Given the description of an element on the screen output the (x, y) to click on. 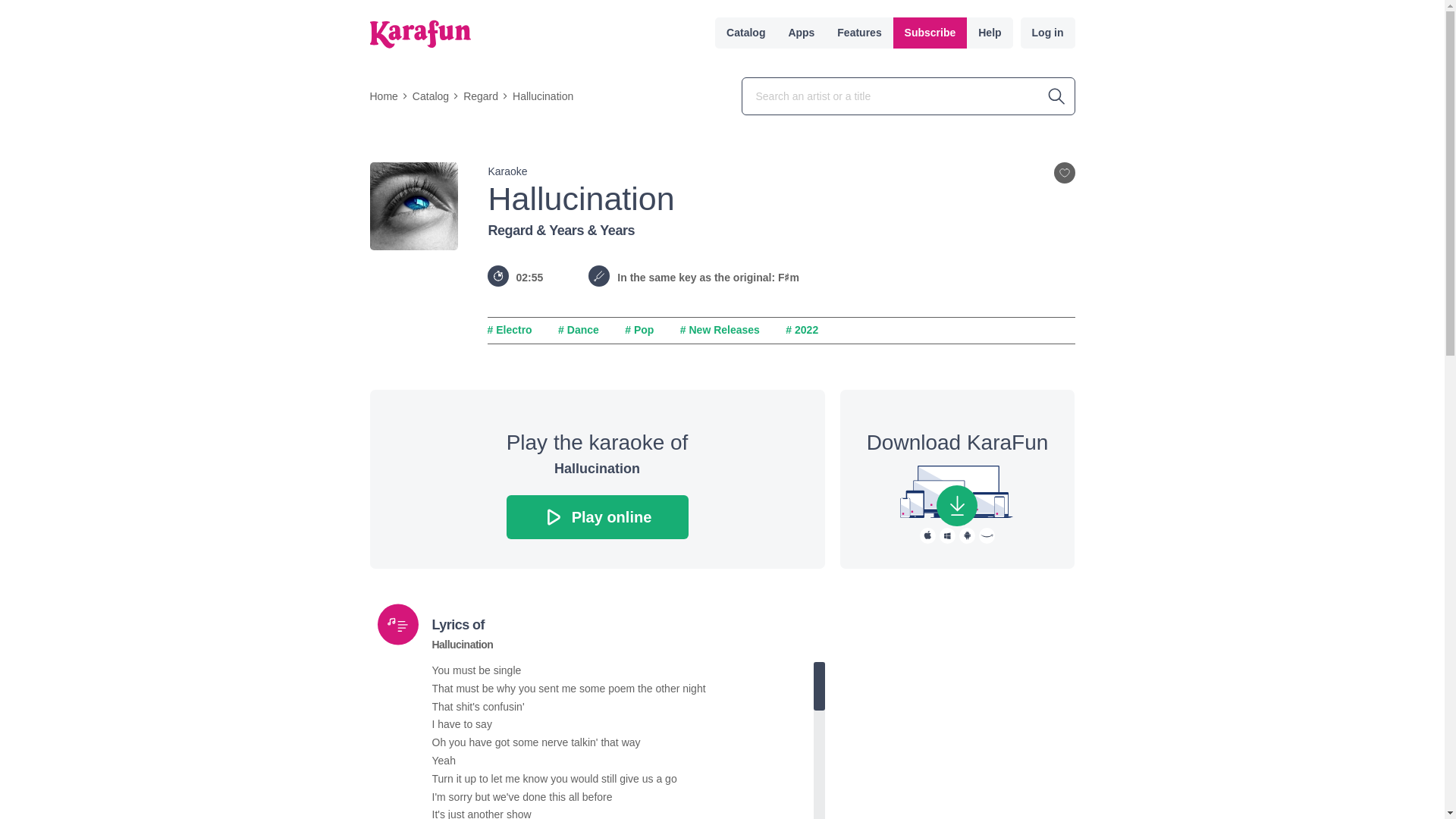
I have to say  (622, 724)
Regard (480, 95)
Oh you have got some nerve talkin' that way  (622, 742)
Download KaraFun (956, 505)
Log in (1047, 32)
That shit's confusin'  (622, 707)
That must be why you sent me some poem the other night  (622, 689)
You must be single  (622, 670)
Apps (800, 32)
Subscribe (930, 32)
